Given the description of an element on the screen output the (x, y) to click on. 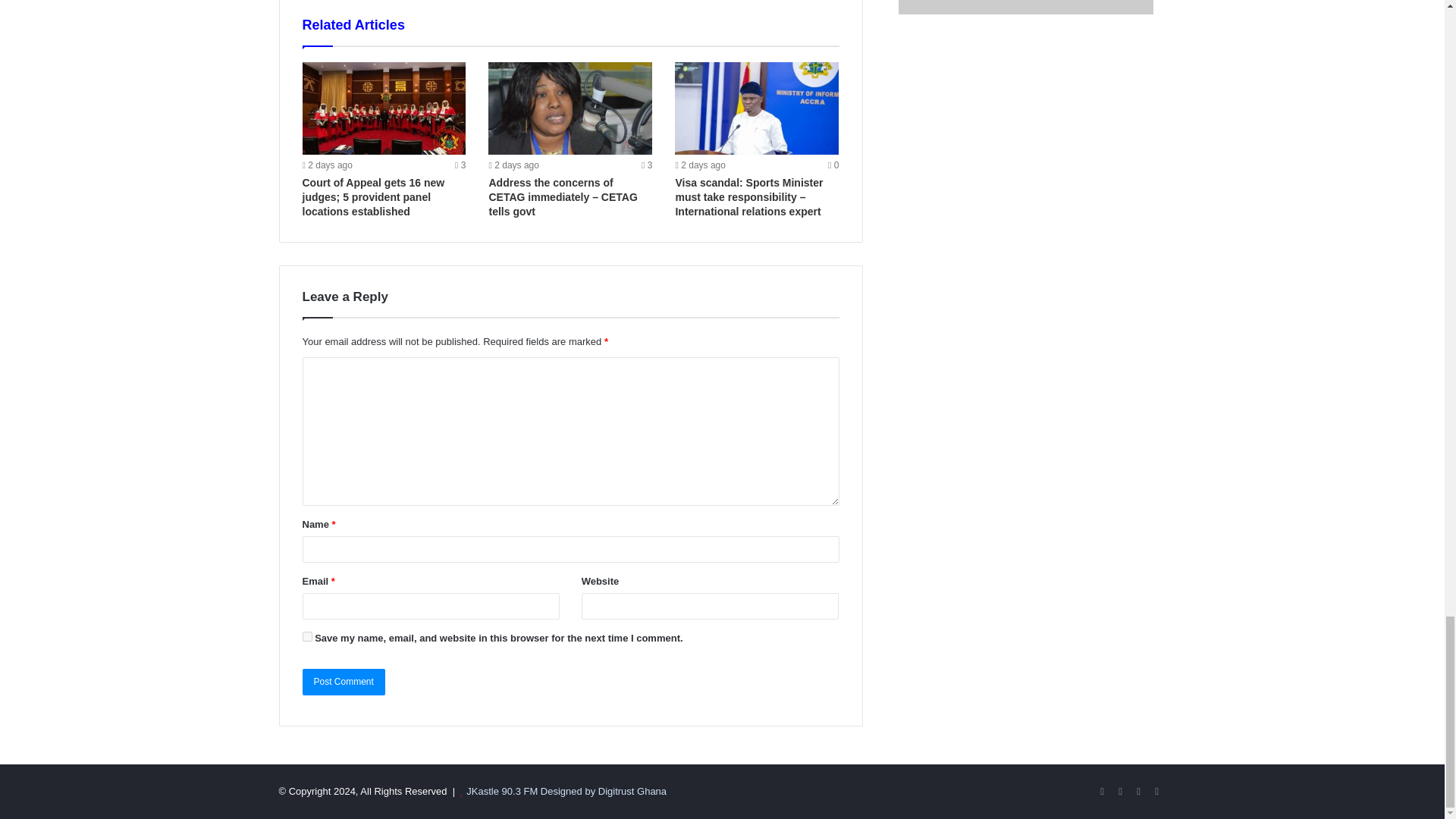
yes (306, 636)
Post Comment (342, 682)
